Given the description of an element on the screen output the (x, y) to click on. 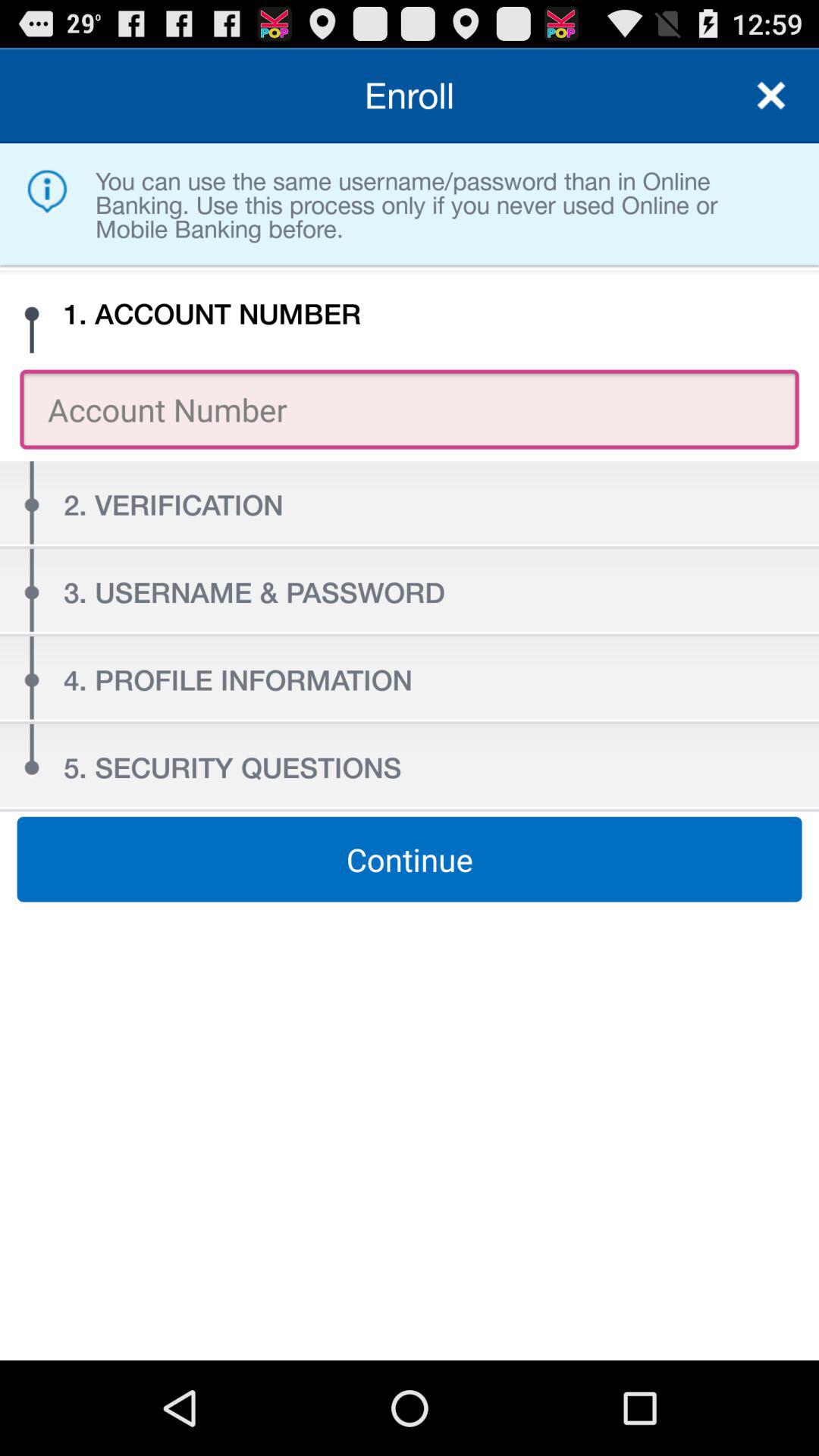
quit for menu (771, 95)
